Given the description of an element on the screen output the (x, y) to click on. 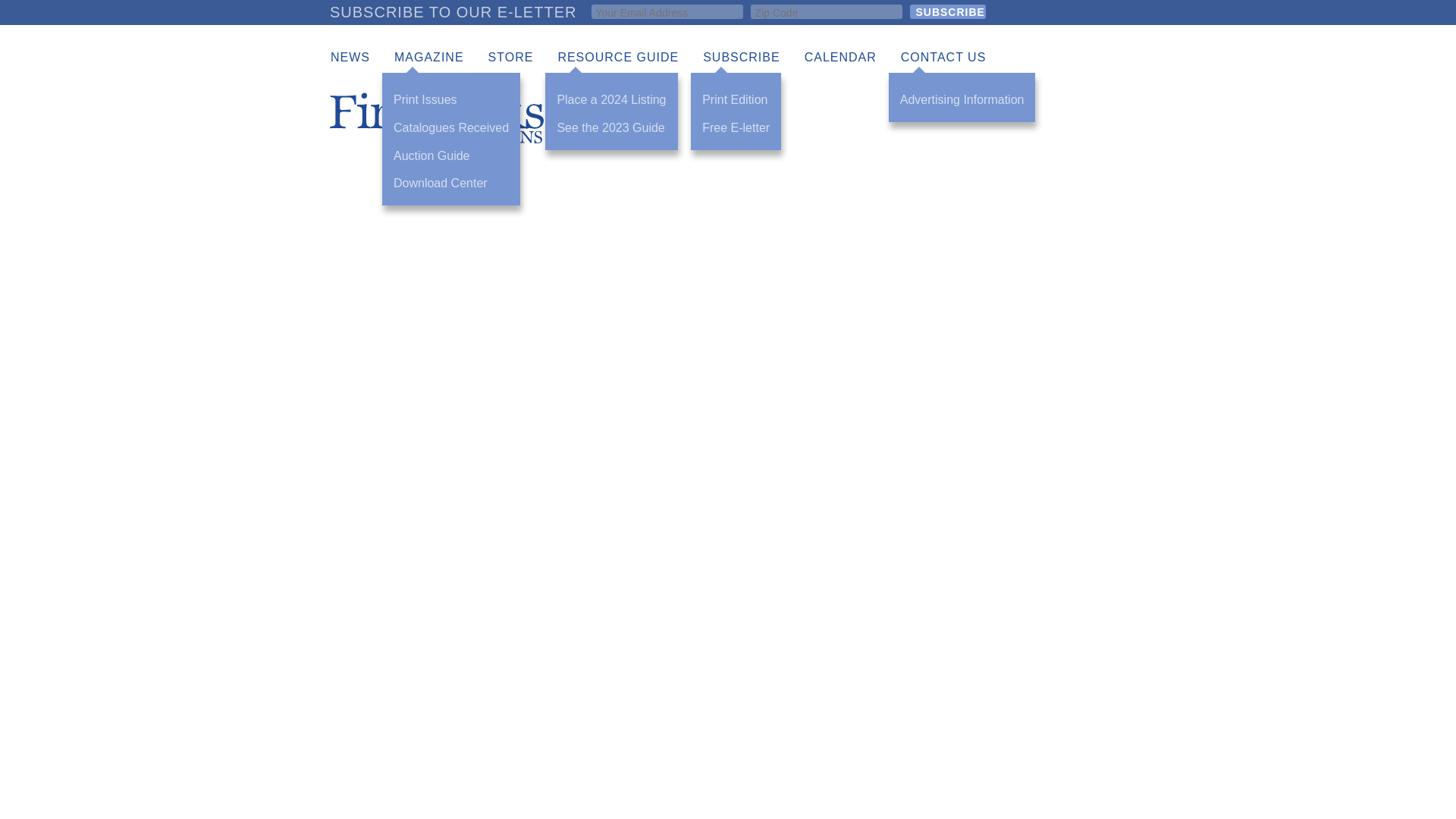
Print Edition (735, 100)
Subscribe (947, 11)
Subscribe (947, 11)
Free E-letter (735, 128)
See the 2023 Guide (610, 128)
Download Center (450, 183)
CALENDAR (840, 57)
RESOURCE GUIDE (617, 57)
Print Issues (450, 100)
STORE (511, 57)
Advertising Information (962, 100)
Place a 2024 Listing (610, 100)
SUBSCRIBE (741, 57)
NEWS (349, 57)
